Given the description of an element on the screen output the (x, y) to click on. 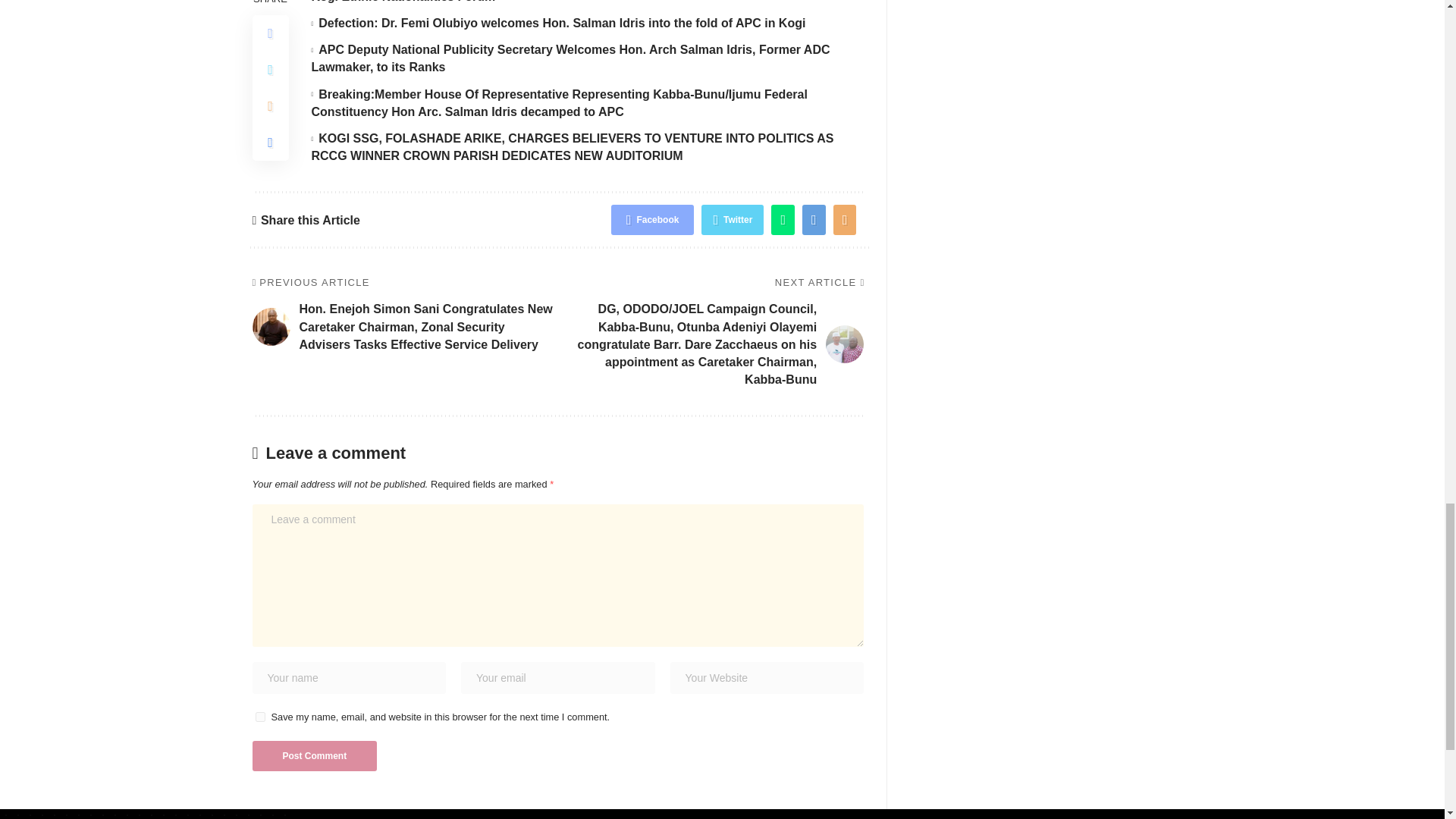
Post Comment (314, 756)
yes (259, 716)
